Given the description of an element on the screen output the (x, y) to click on. 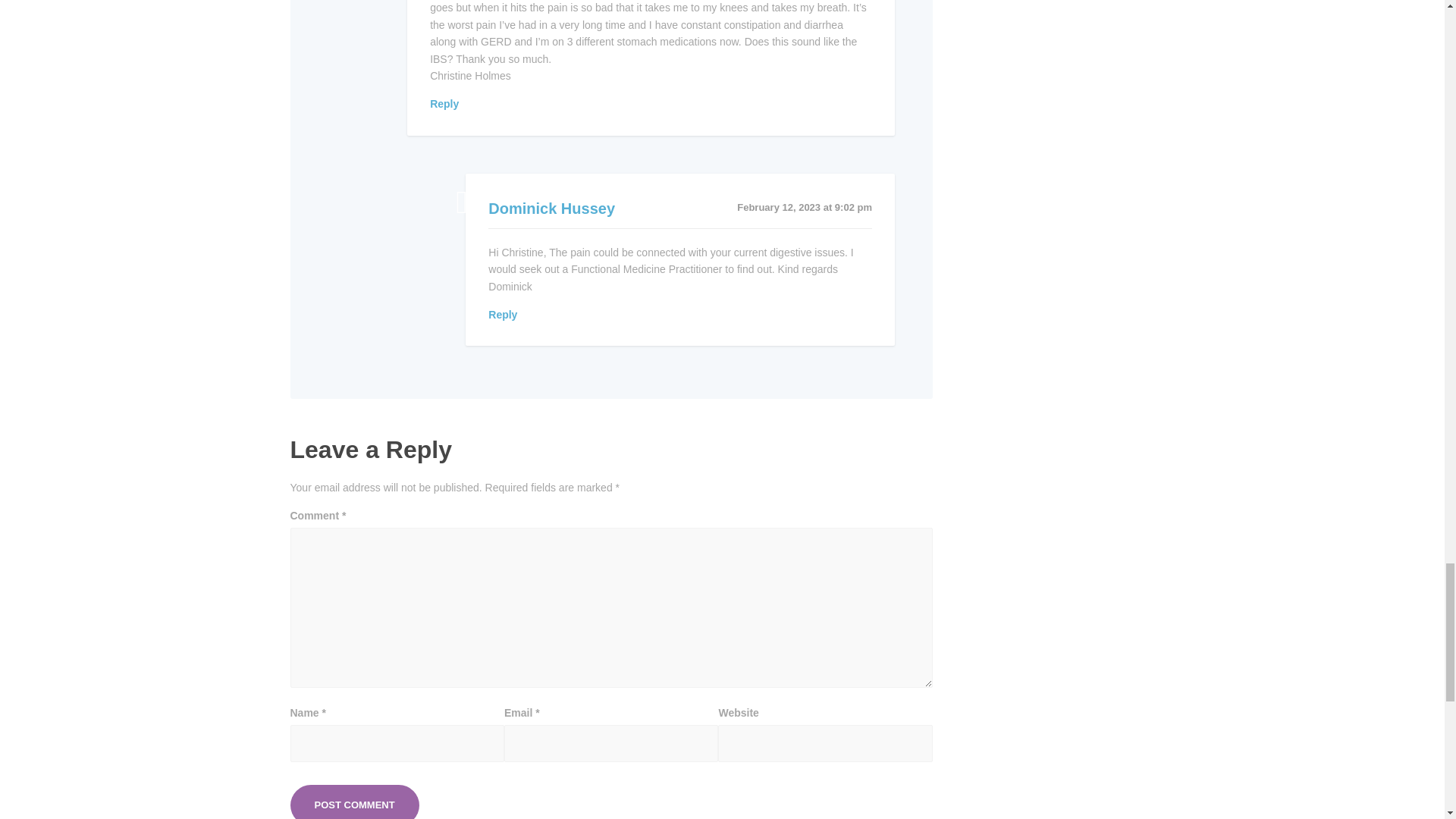
Post Comment (354, 801)
Reply (443, 103)
Post Comment (354, 801)
Reply (501, 314)
